Given the description of an element on the screen output the (x, y) to click on. 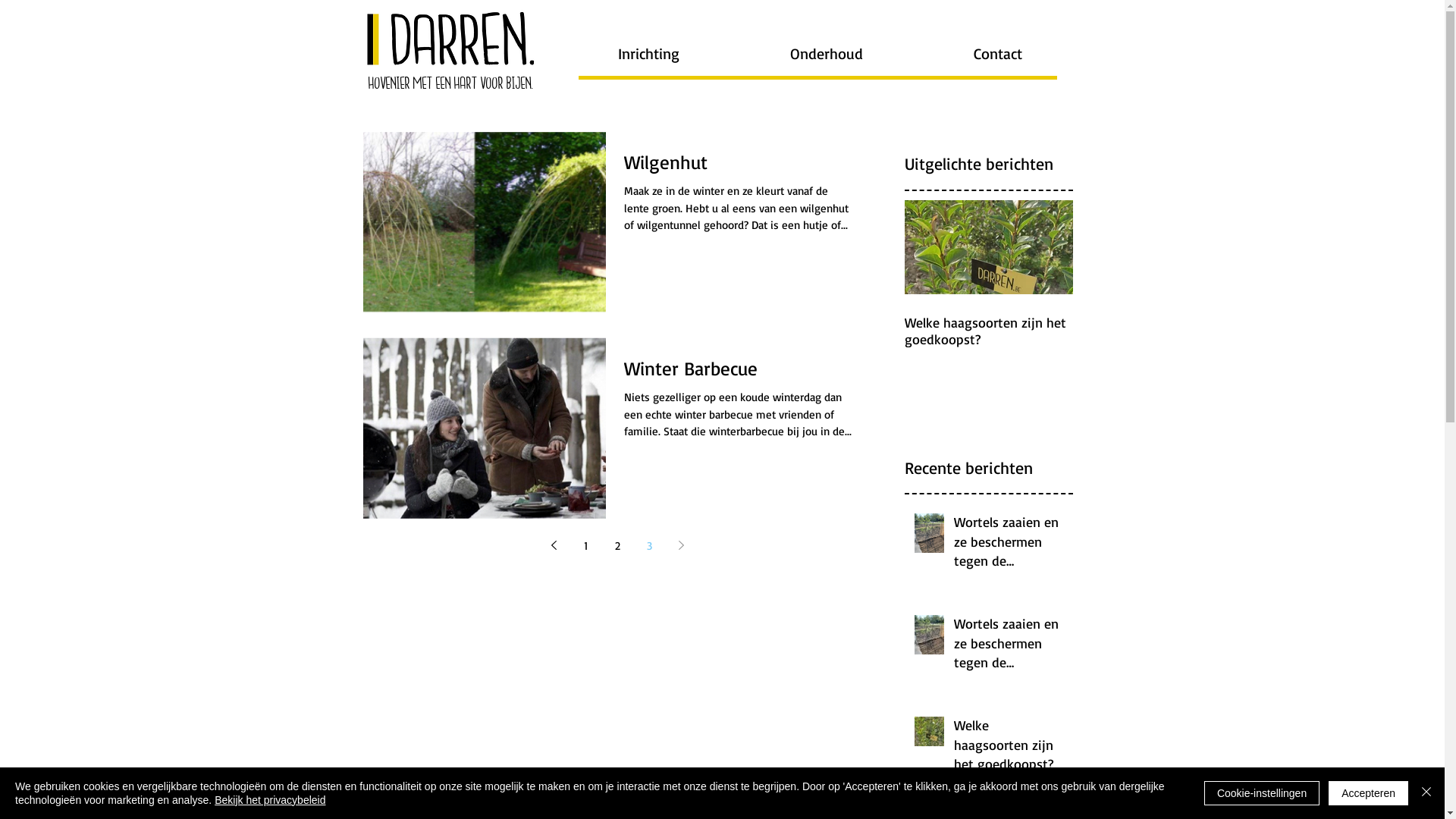
Accepteren Element type: text (1368, 793)
Cookie-instellingen Element type: text (1261, 793)
2 Element type: text (616, 544)
Wilgenhut Element type: text (738, 165)
Welke haagsoorten zijn het goedkoopst? Element type: text (987, 330)
Wortels zaaien en ze beschermen tegen de Wortelvlieg Element type: text (1008, 544)
Wortels zaaien en ze beschermen tegen de Wortelvlieg Element type: text (1008, 645)
Welke haagsoorten zijn het goedkoopst? Element type: text (1008, 747)
Contact Element type: text (996, 53)
Winter Barbecue Element type: text (738, 372)
Bekijk het privacybeleid Element type: text (269, 799)
1 Element type: text (585, 544)
